Given the description of an element on the screen output the (x, y) to click on. 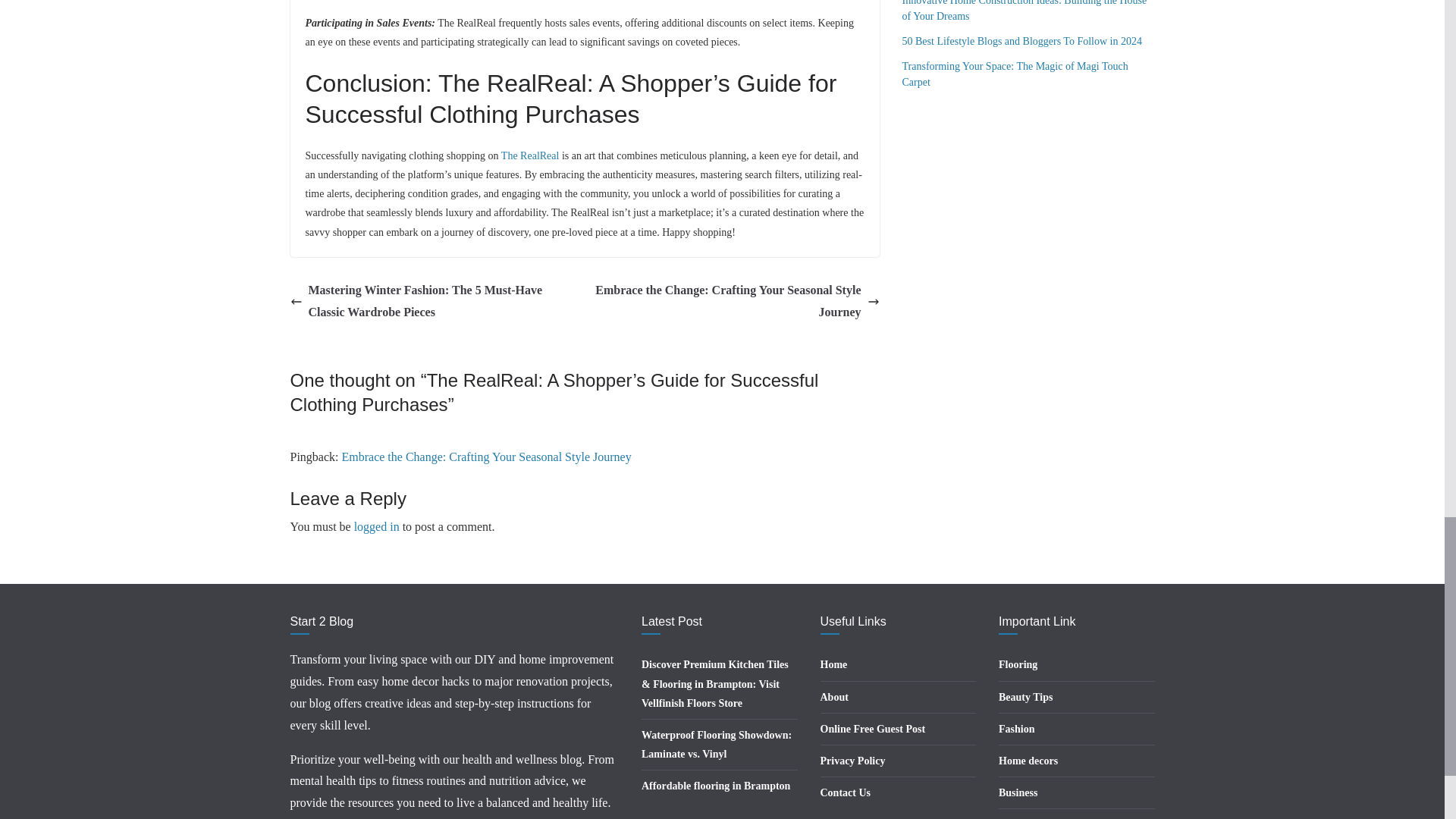
Embrace the Change: Crafting Your Seasonal Style Journey (735, 301)
The RealReal (529, 155)
Embrace the Change: Crafting Your Seasonal Style Journey (485, 456)
logged in (375, 526)
